Given the description of an element on the screen output the (x, y) to click on. 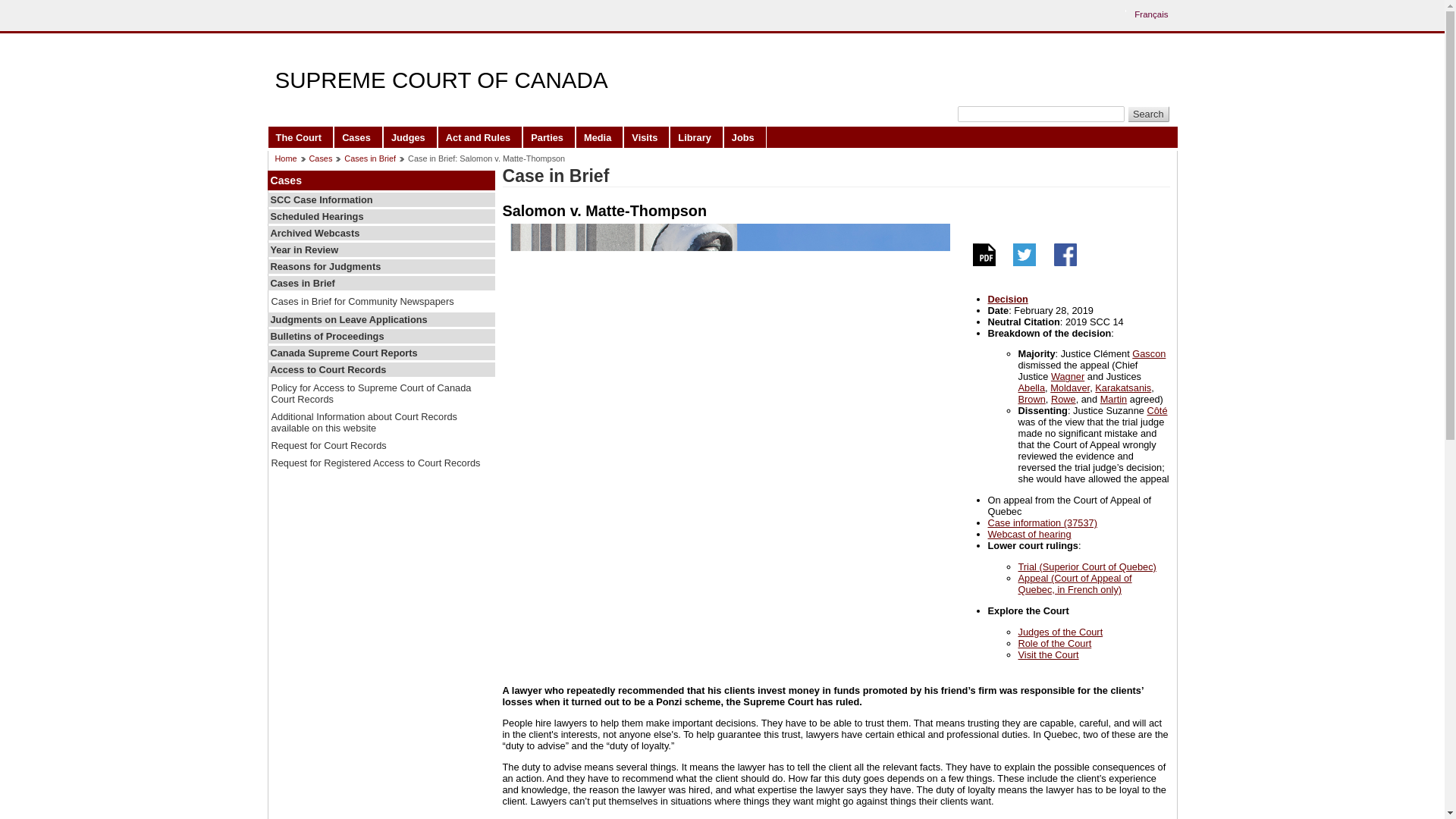
The Court (300, 136)
Link to PDF version (983, 262)
Skip to main content (726, 11)
Search (1147, 114)
Search (1147, 114)
SUPREME COURT OF CANADA (441, 80)
Link to SCC Twitter Account (1024, 262)
Link to SCC Facebook Page (1065, 262)
Judges (410, 136)
Cases (357, 136)
